Given the description of an element on the screen output the (x, y) to click on. 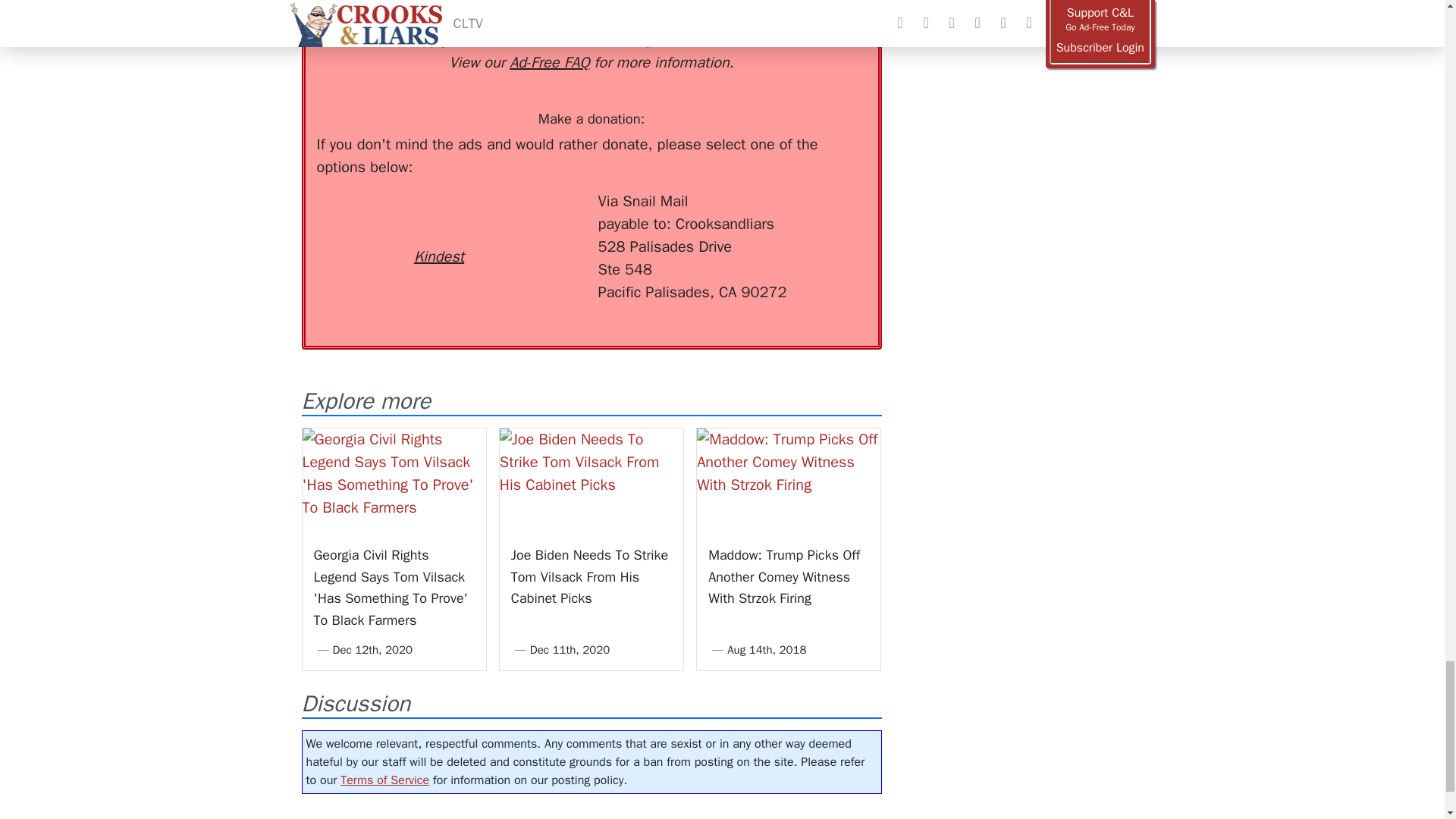
Donate via PayPal (540, 217)
Donate via Kindest (438, 229)
